Given the description of an element on the screen output the (x, y) to click on. 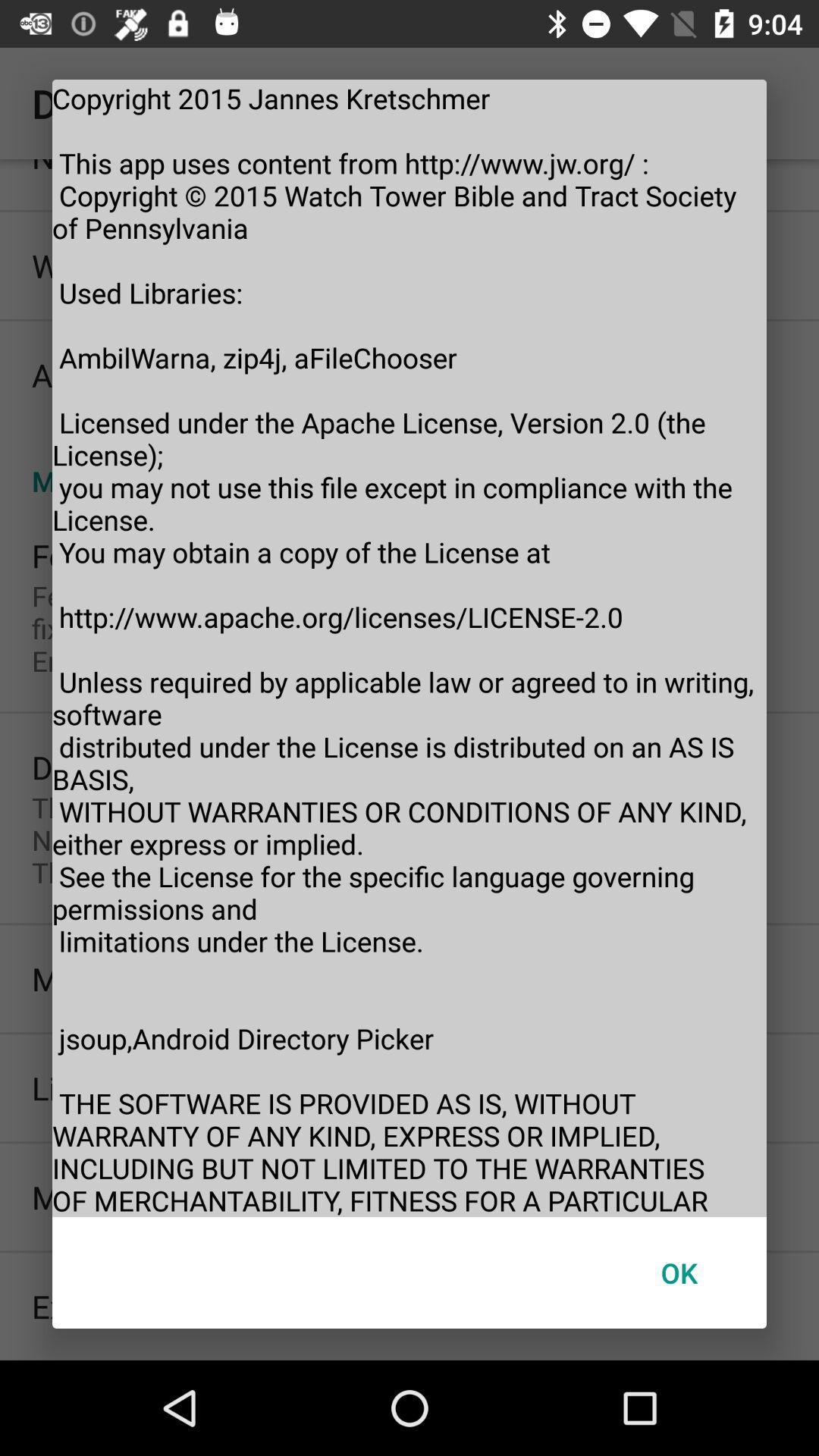
swipe to the ok (678, 1272)
